Given the description of an element on the screen output the (x, y) to click on. 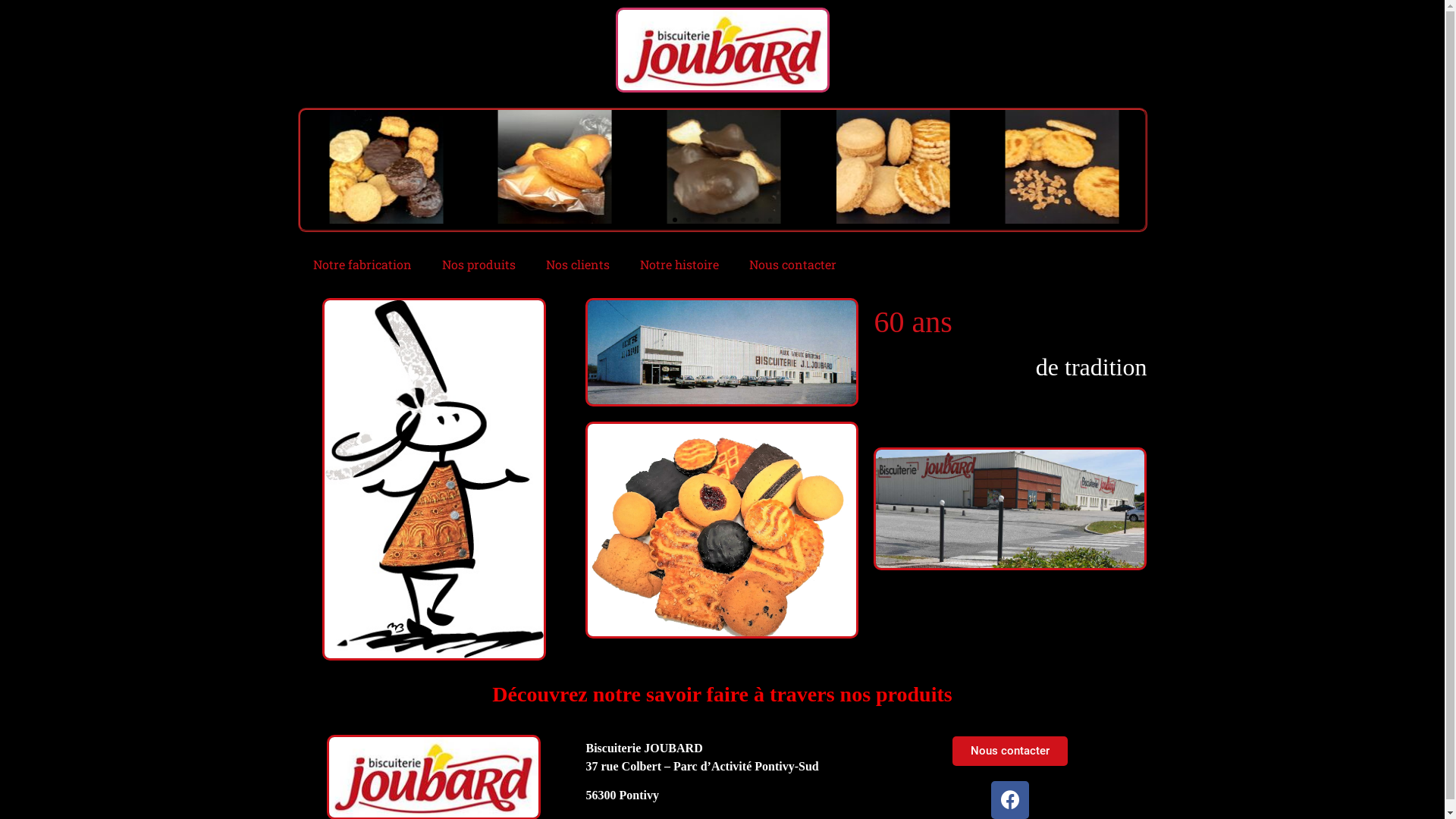
Nos clients Element type: text (577, 264)
Notre fabrication Element type: text (361, 264)
Nous contacter Element type: text (792, 264)
Nos produits Element type: text (478, 264)
Notre histoire Element type: text (679, 264)
Nous contacter Element type: text (1009, 750)
